Given the description of an element on the screen output the (x, y) to click on. 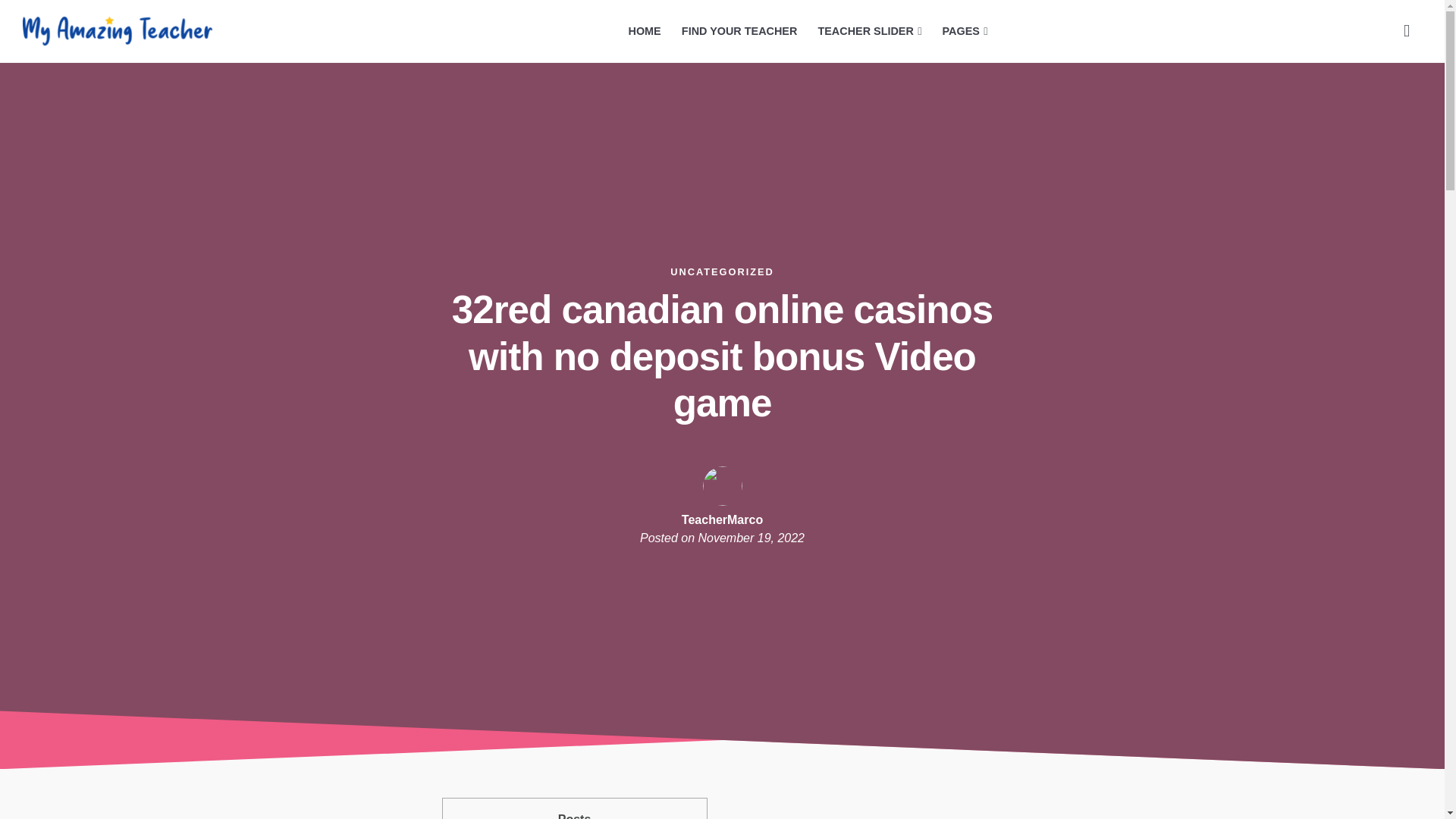
TEACHER SLIDER (869, 31)
HOME (644, 31)
FIND YOUR TEACHER (739, 31)
UNCATEGORIZED (721, 271)
November 19, 2022 (751, 537)
PAGES (964, 31)
TeacherMarco (721, 519)
View your shopping cart (1406, 30)
